Given the description of an element on the screen output the (x, y) to click on. 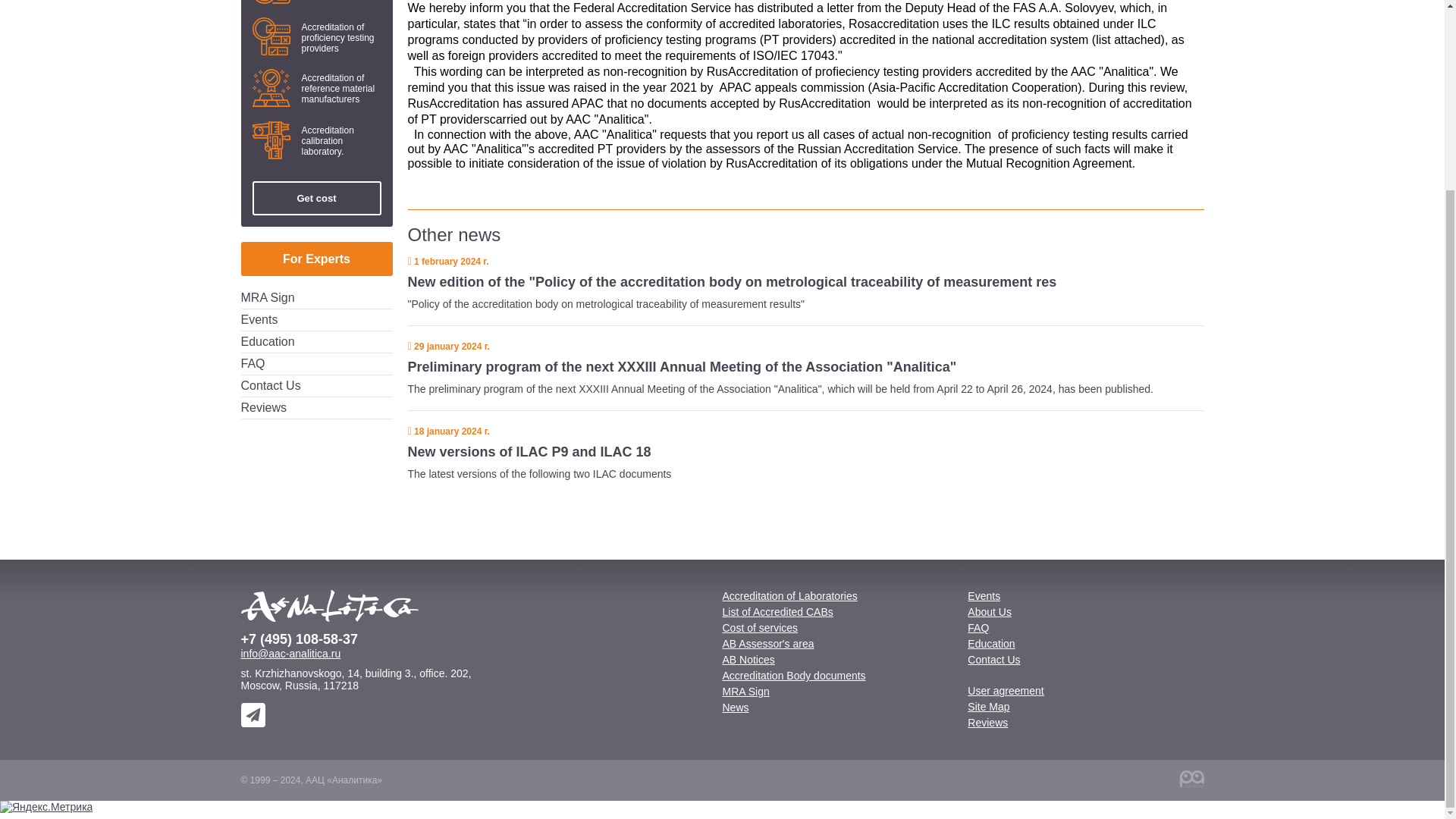
MRA Sign (268, 297)
Education (268, 341)
FAQ (252, 363)
Get cost (315, 197)
For Experts (317, 258)
Reviews (263, 407)
Events (259, 318)
Contact Us (271, 385)
Telegram (252, 714)
